Given the description of an element on the screen output the (x, y) to click on. 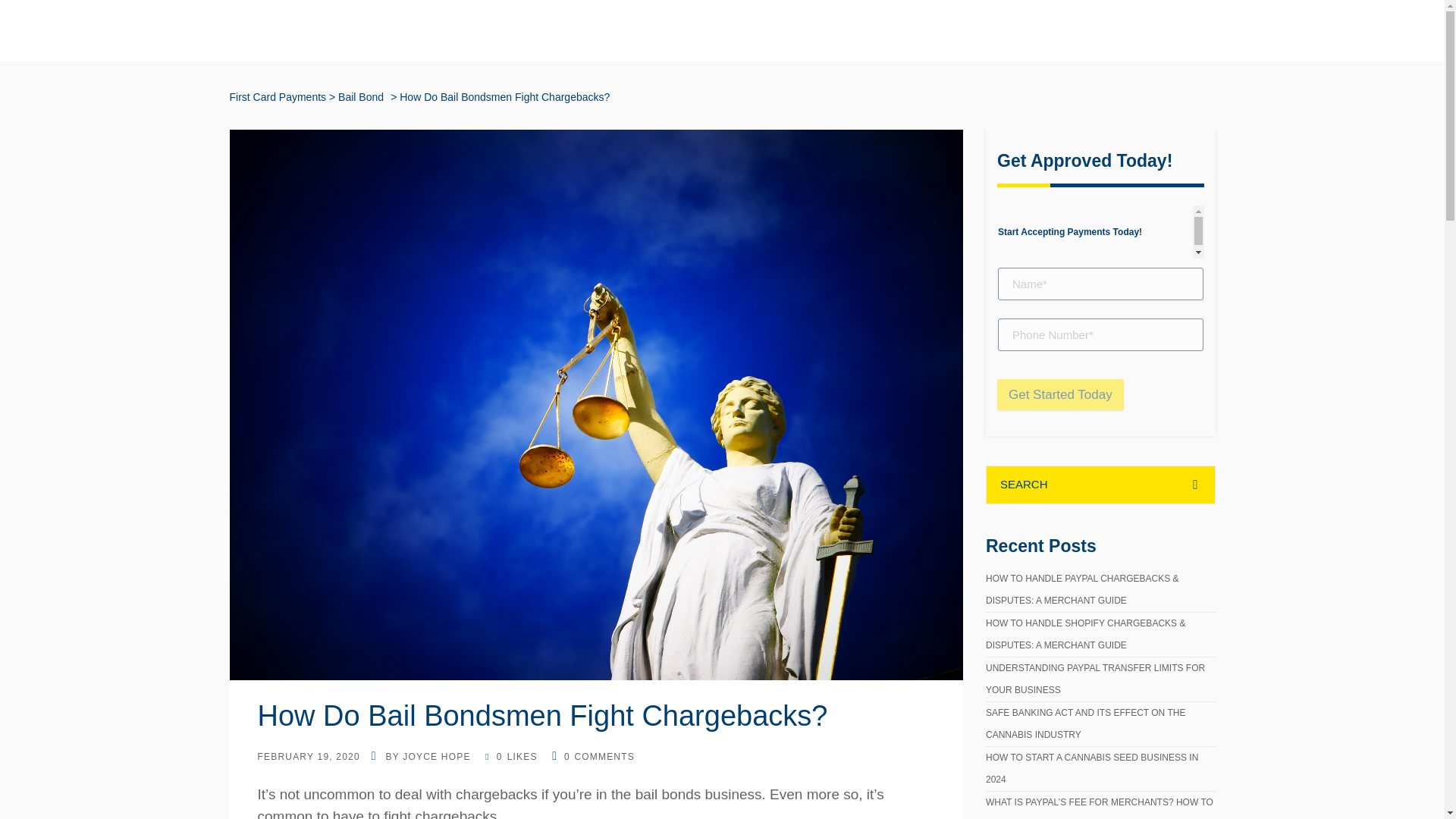
Like this (510, 756)
